Given the description of an element on the screen output the (x, y) to click on. 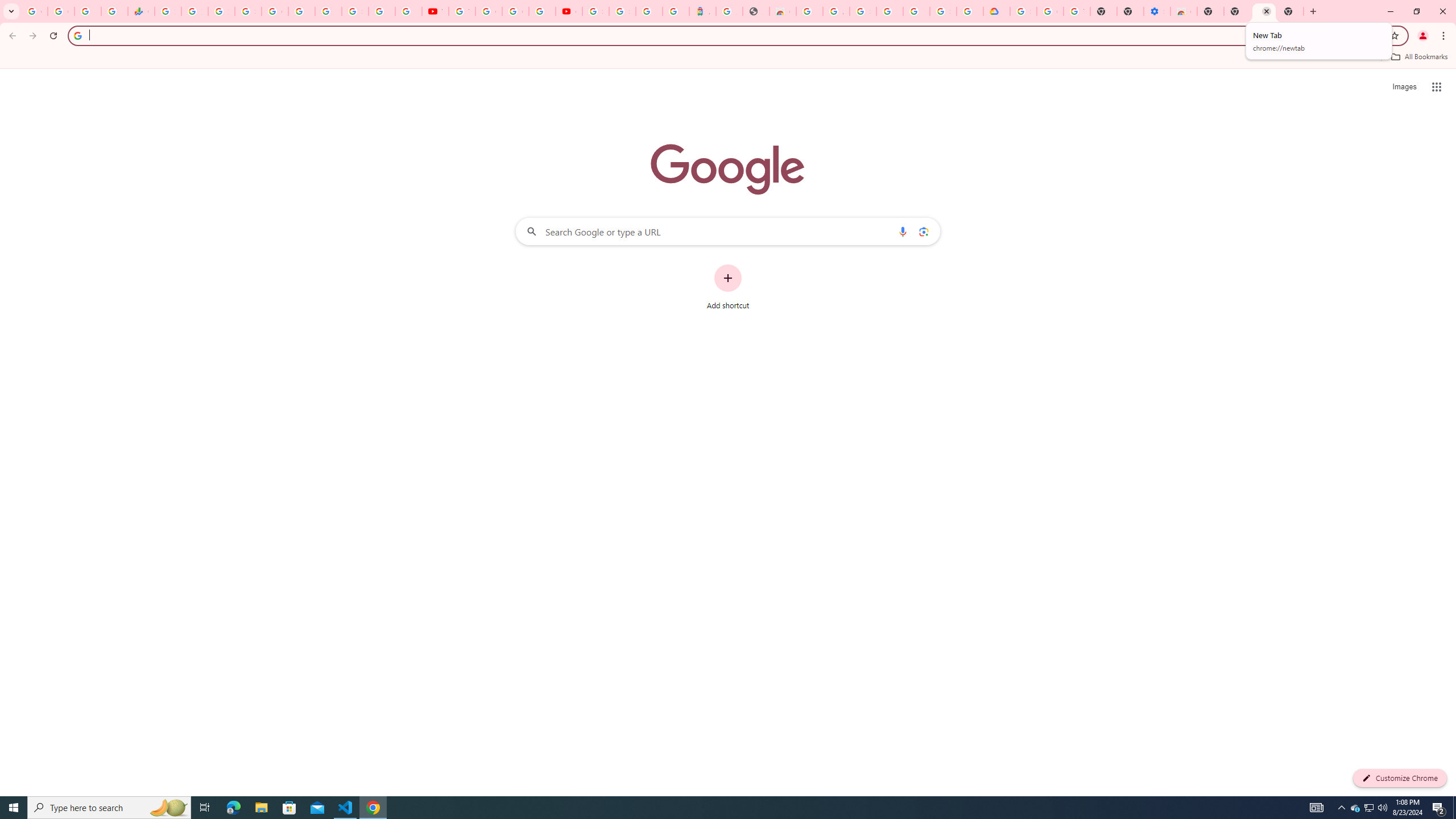
New Tab (1210, 11)
Sign in - Google Accounts (1023, 11)
Ad Settings (836, 11)
